Given the description of an element on the screen output the (x, y) to click on. 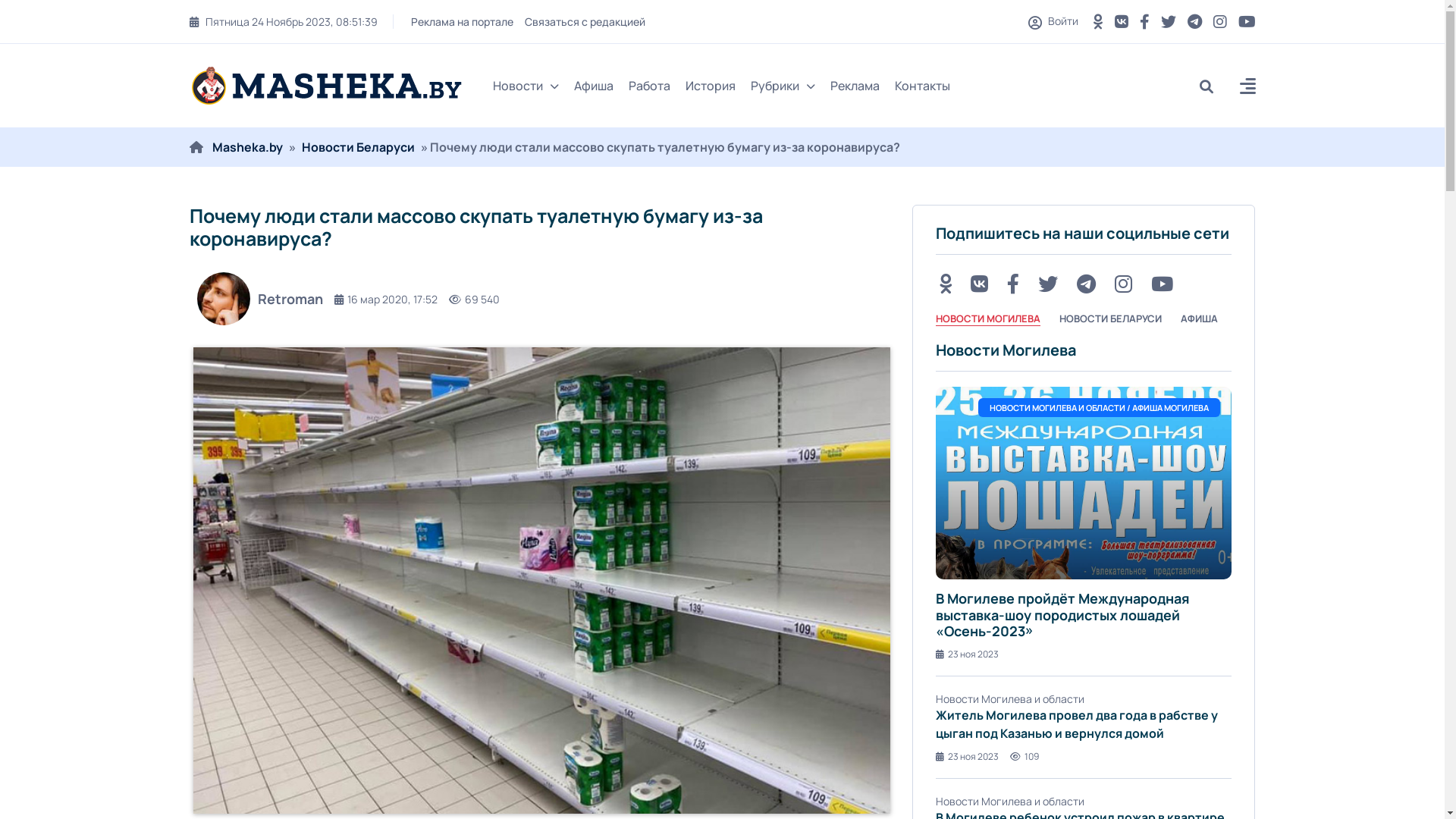
Retroman Element type: text (256, 298)
Masheka.by Element type: text (247, 146)
